Given the description of an element on the screen output the (x, y) to click on. 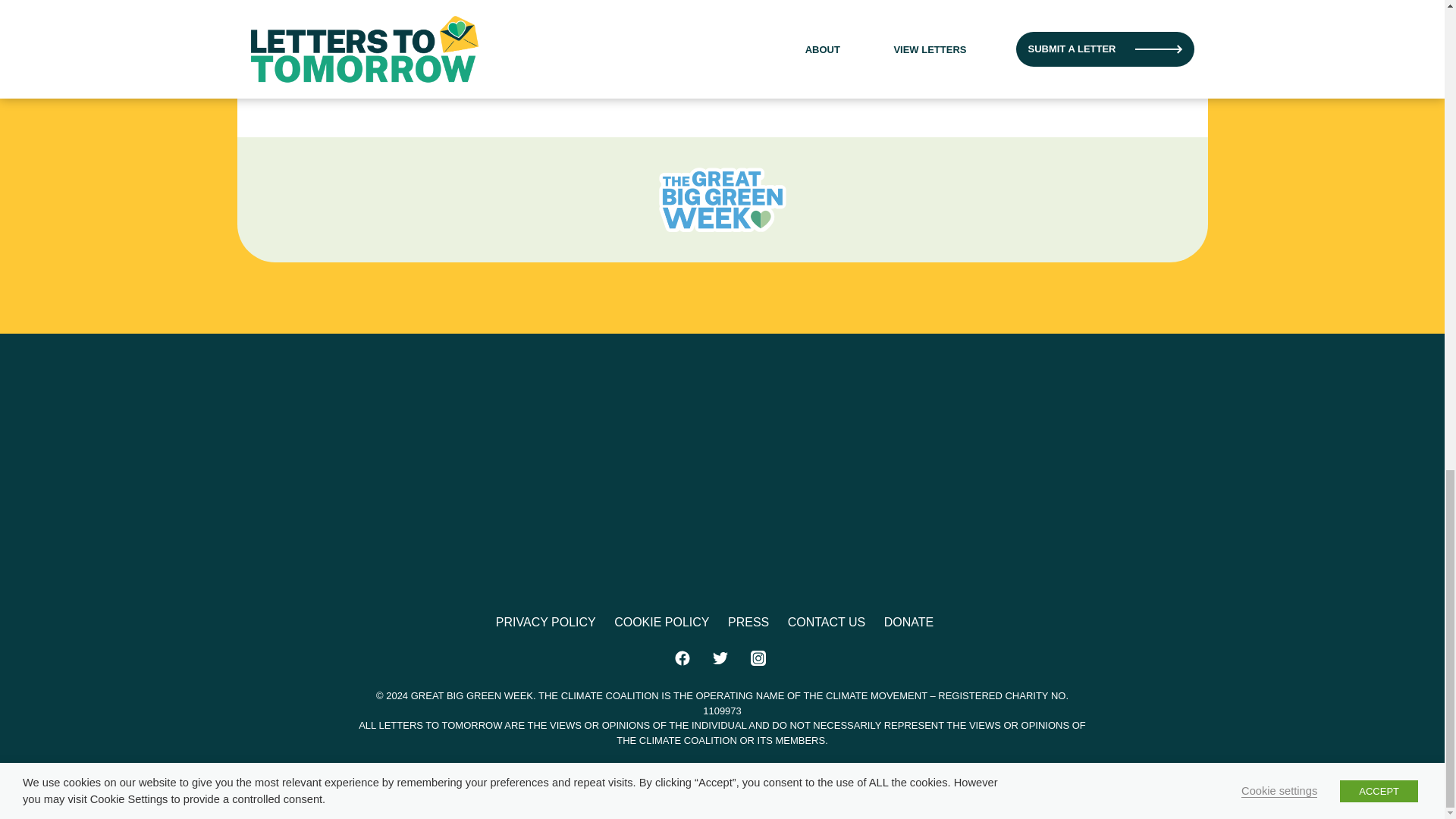
SUBMIT A LETTER (491, 20)
PRESS (748, 621)
DONATE (908, 621)
PRIVACY POLICY (545, 621)
COOKIE POLICY (661, 621)
CONTACT US (826, 621)
